Given the description of an element on the screen output the (x, y) to click on. 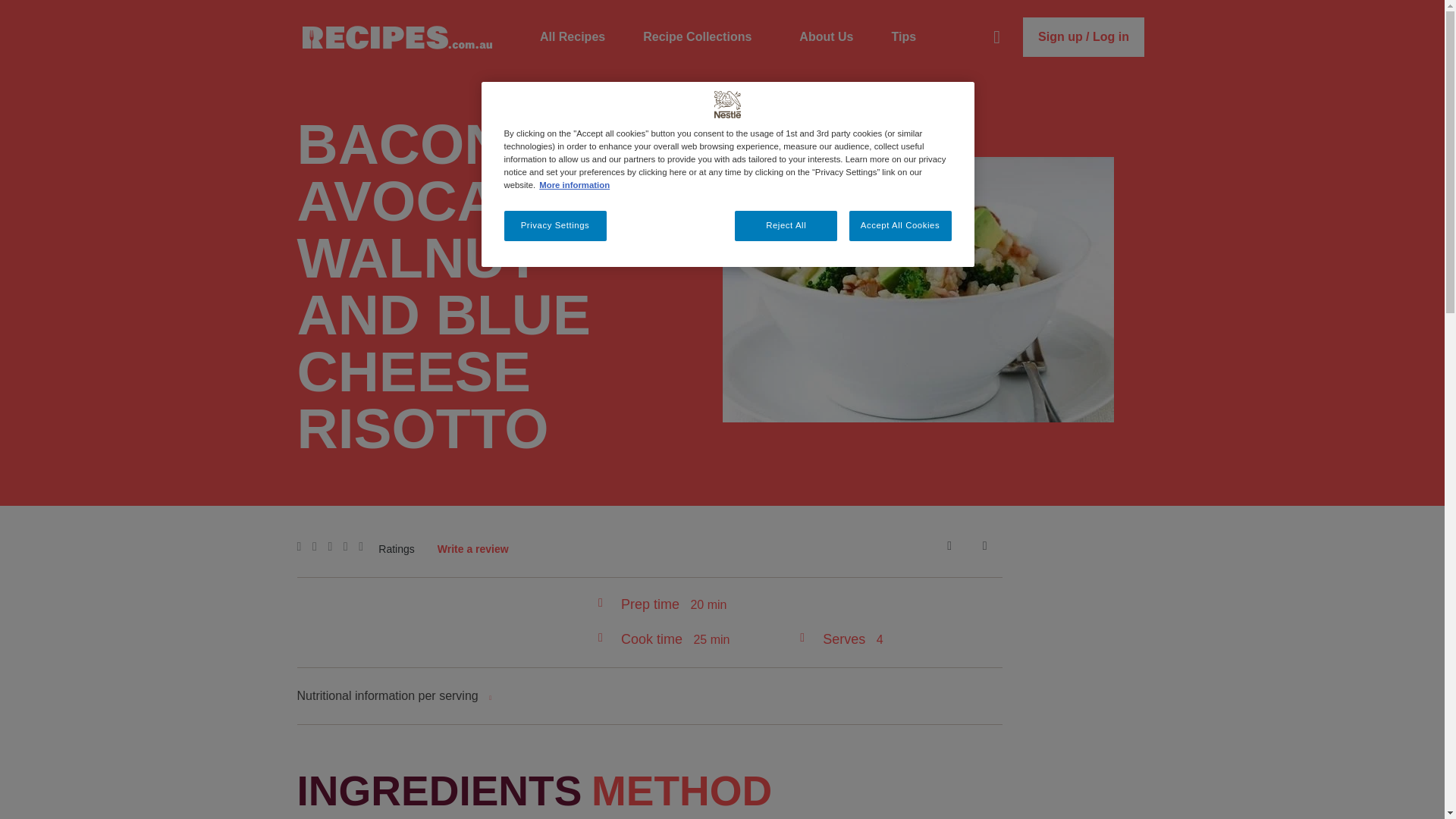
All Recipes (572, 37)
Company Logo (727, 103)
Recipe Collections (702, 37)
Not rated yet! (334, 548)
Tips (903, 37)
About Us (826, 37)
